Given the description of an element on the screen output the (x, y) to click on. 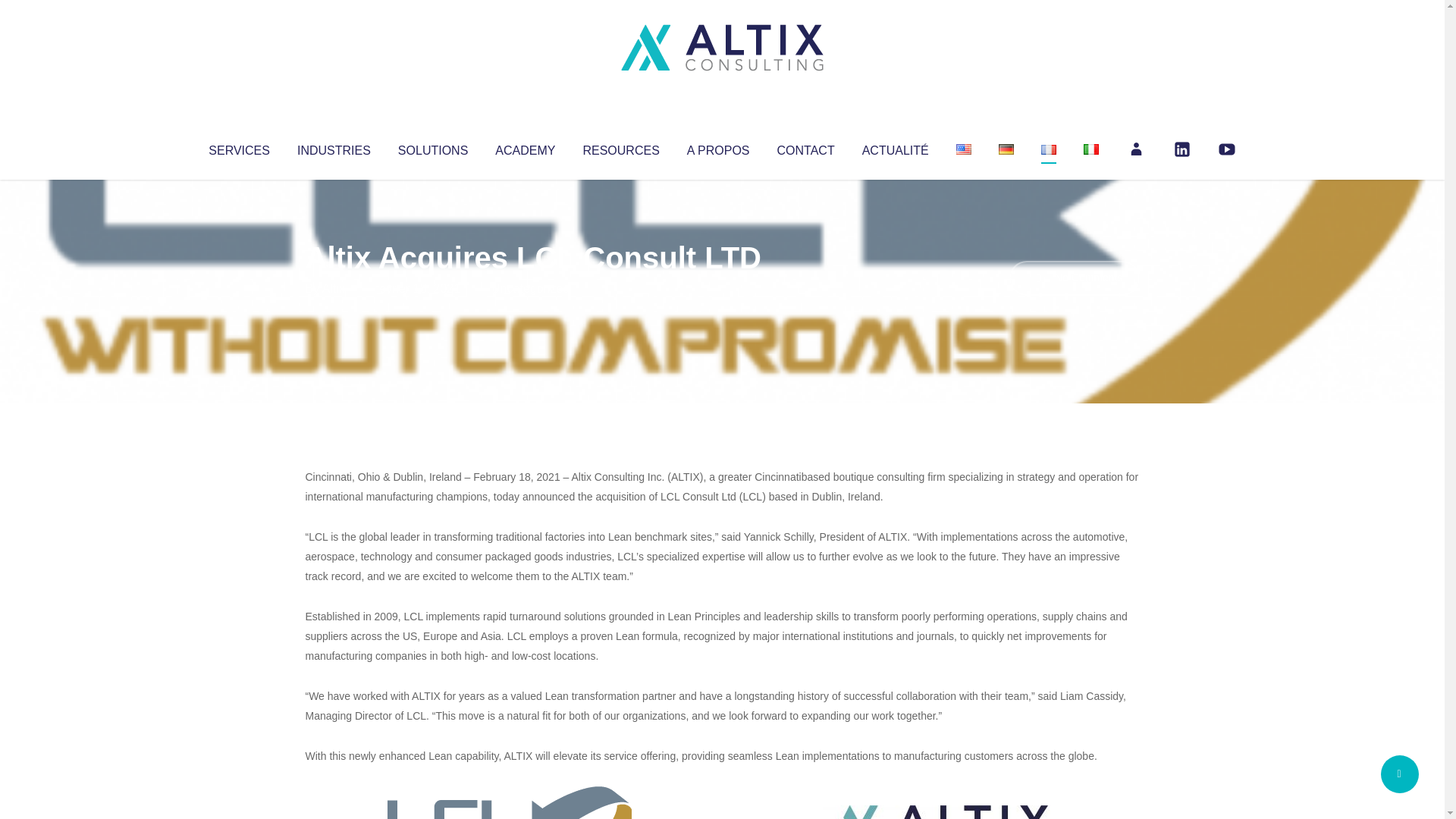
A PROPOS (718, 146)
Uncategorized (530, 287)
Articles par Altix (333, 287)
ACADEMY (524, 146)
No Comments (1073, 278)
SOLUTIONS (432, 146)
RESOURCES (620, 146)
Altix (333, 287)
INDUSTRIES (334, 146)
SERVICES (238, 146)
